Given the description of an element on the screen output the (x, y) to click on. 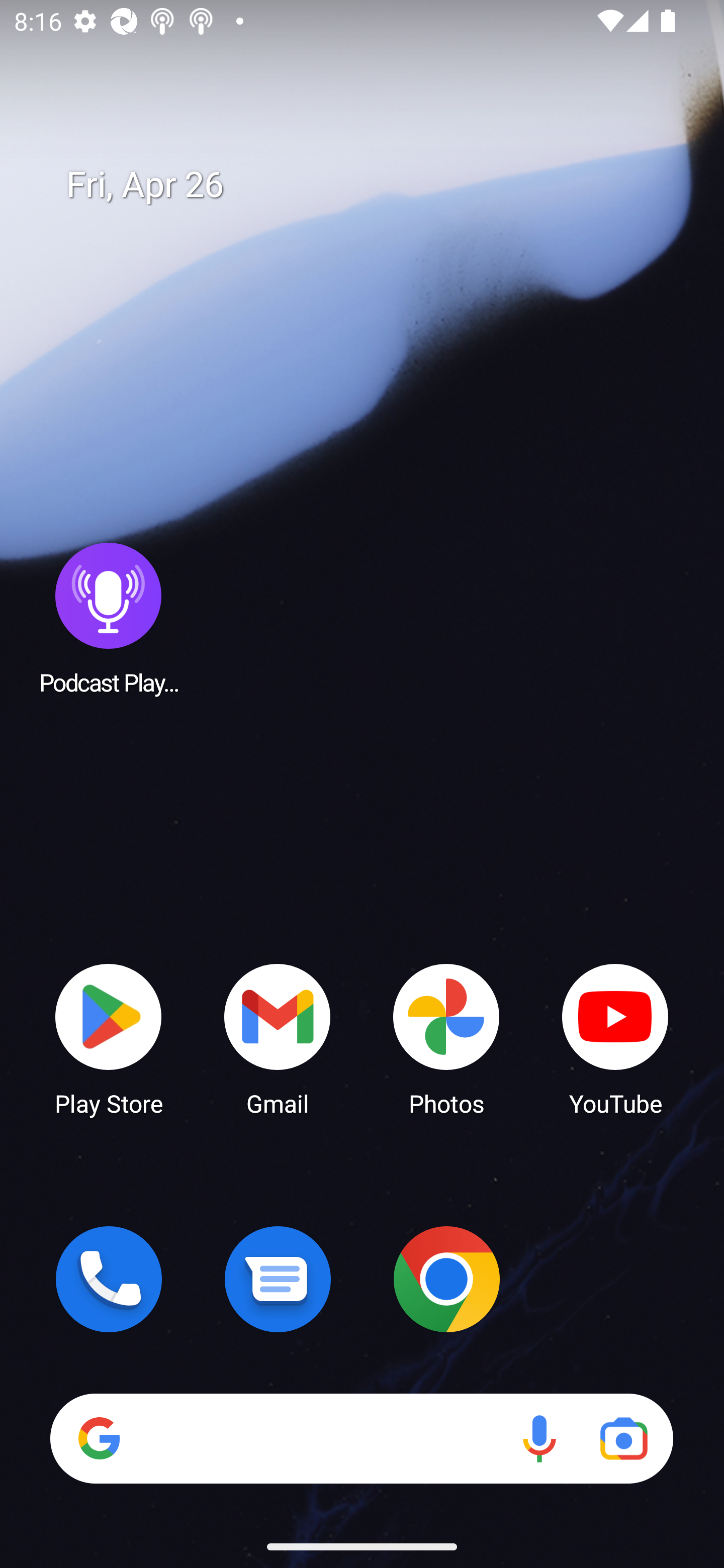
Fri, Apr 26 (375, 184)
Podcast Player (108, 617)
Play Store (108, 1038)
Gmail (277, 1038)
Photos (445, 1038)
YouTube (615, 1038)
Phone (108, 1279)
Messages (277, 1279)
Chrome (446, 1279)
Search Voice search Google Lens (361, 1438)
Voice search (539, 1438)
Google Lens (623, 1438)
